Given the description of an element on the screen output the (x, y) to click on. 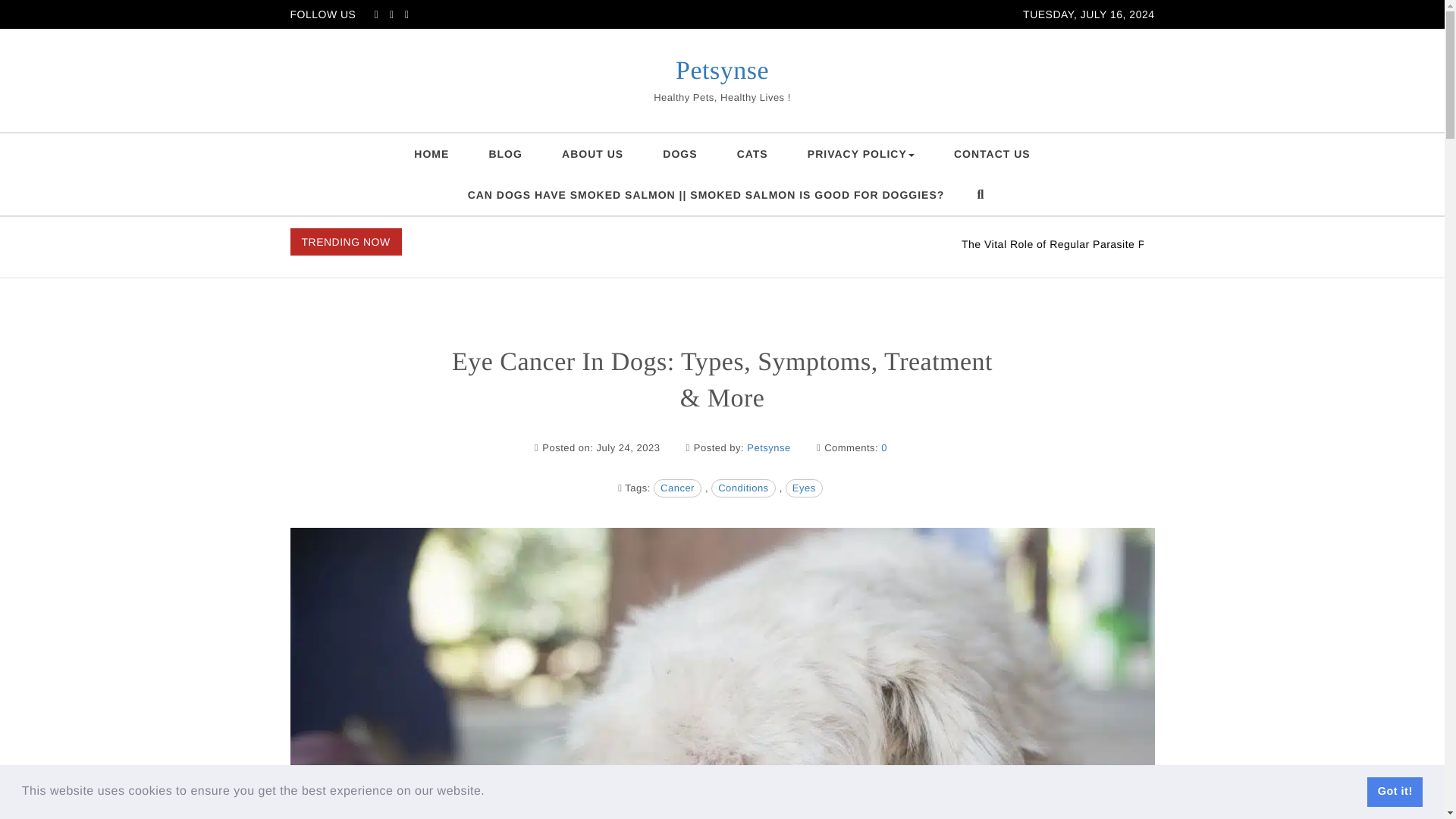
Petsynse (721, 71)
Cancer (677, 488)
BLOG (505, 153)
Petsynse (768, 447)
CONTACT US (992, 153)
CATS (752, 153)
0 (883, 447)
DOGS (679, 153)
ABOUT US (592, 153)
Got it! (1394, 791)
HOME (431, 153)
Conditions (742, 488)
Eyes (804, 488)
PRIVACY POLICY (861, 153)
